Given the description of an element on the screen output the (x, y) to click on. 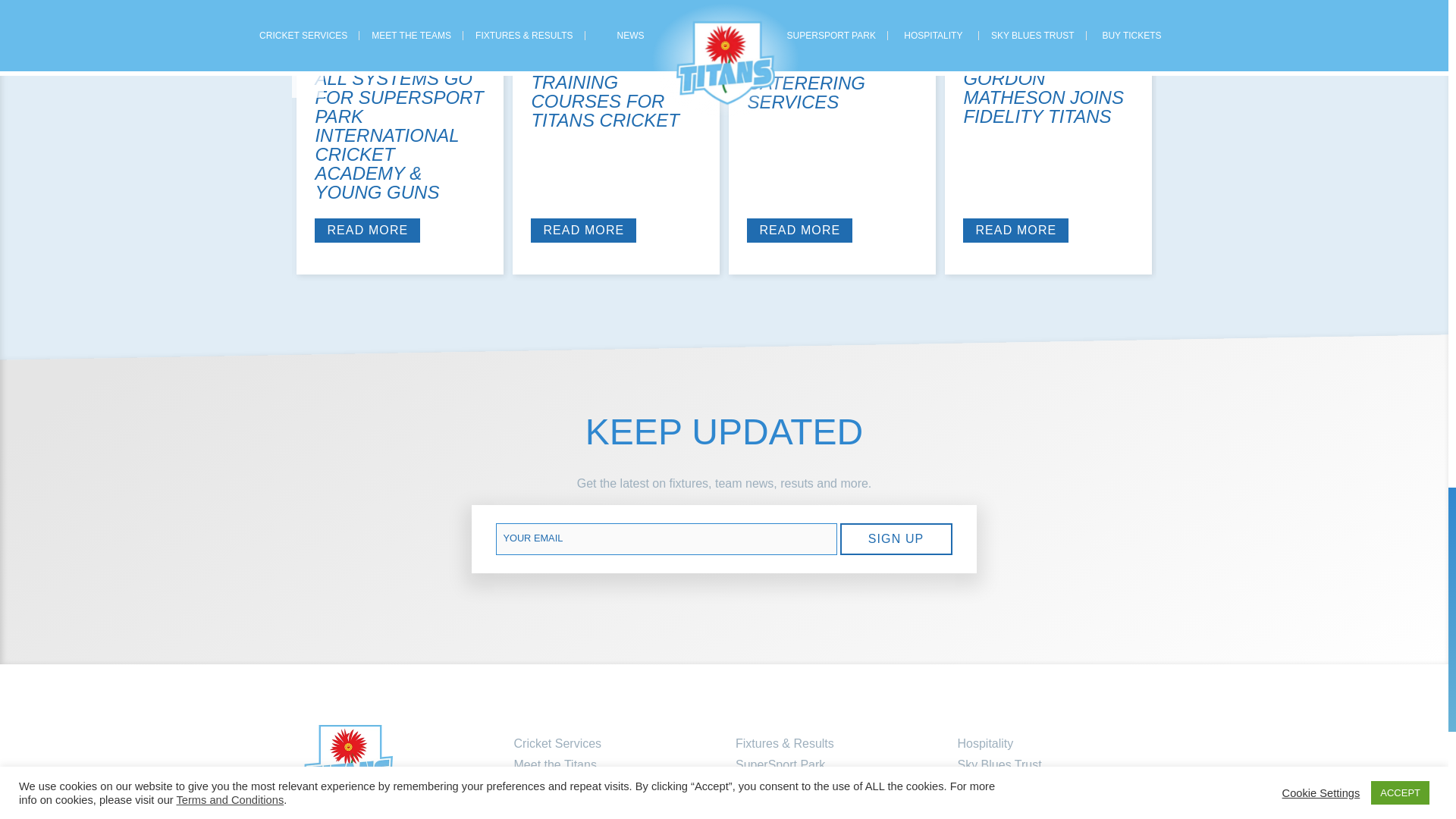
SIGN UP (896, 539)
